Given the description of an element on the screen output the (x, y) to click on. 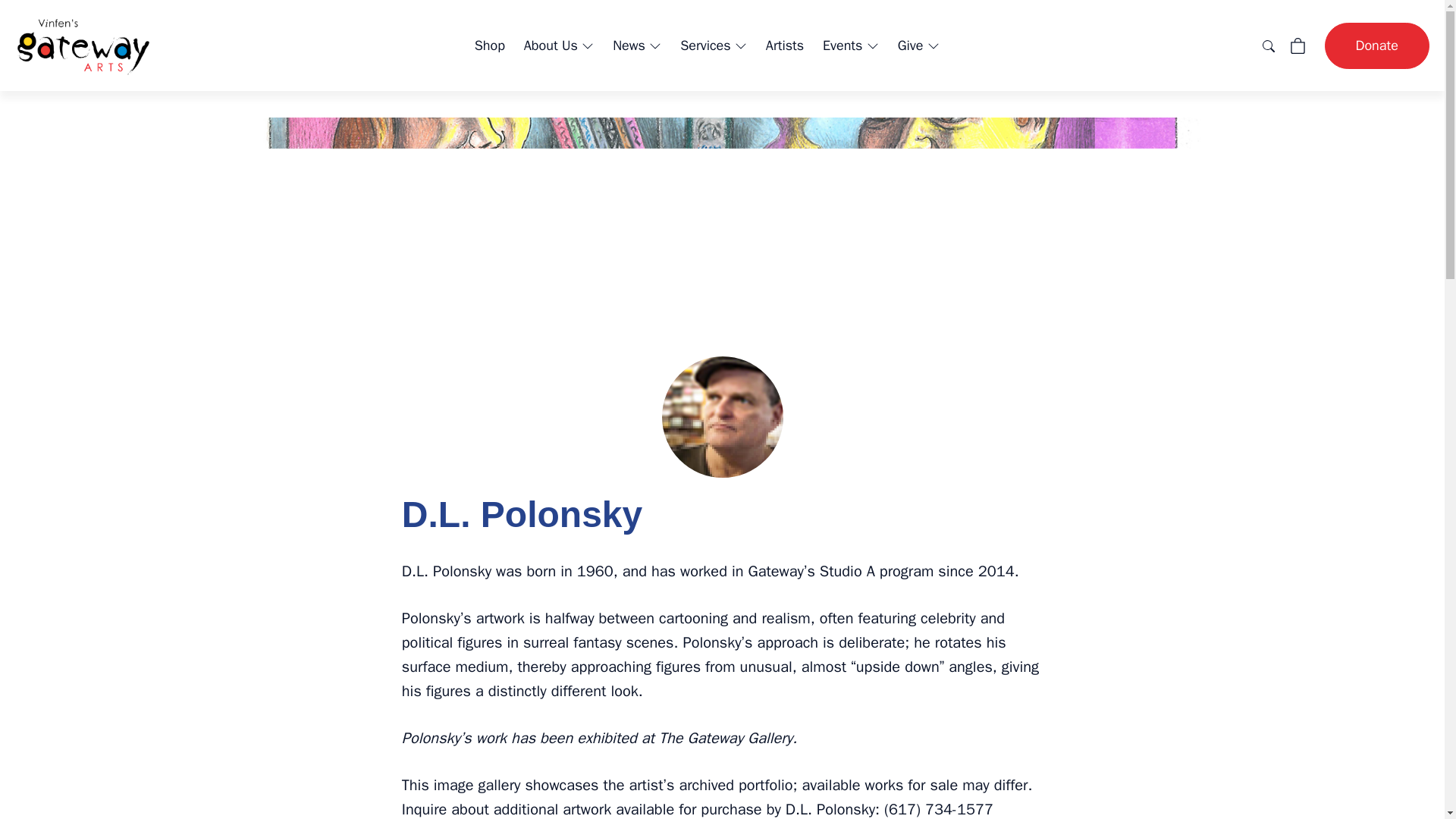
Artists (784, 45)
Donate (1376, 45)
Shop (489, 45)
